Given the description of an element on the screen output the (x, y) to click on. 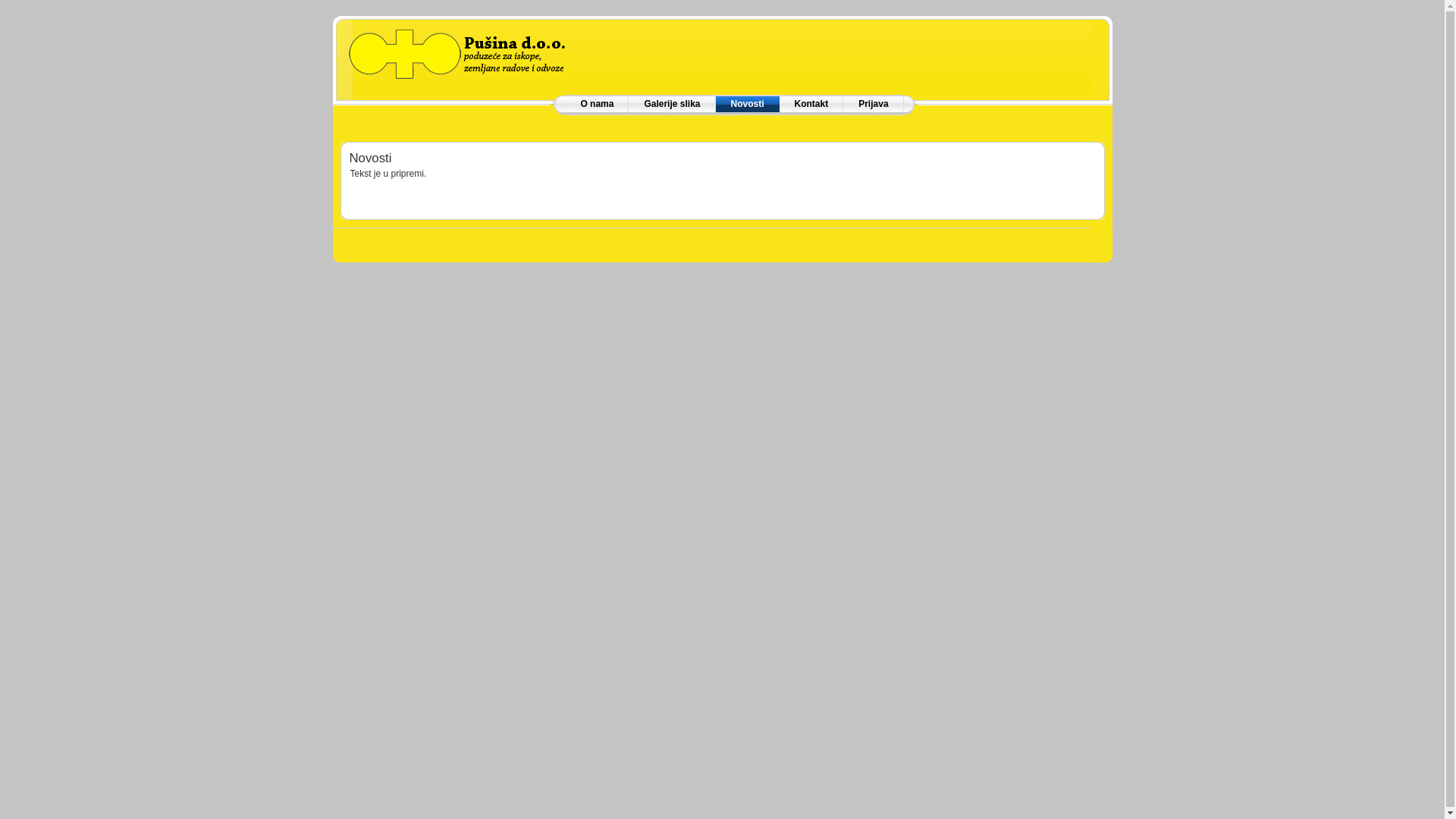
Galerije slika Element type: text (671, 103)
Prijava Element type: text (873, 103)
Novosti Element type: text (747, 104)
O nama Element type: text (596, 103)
Kontakt Element type: text (811, 103)
